Given the description of an element on the screen output the (x, y) to click on. 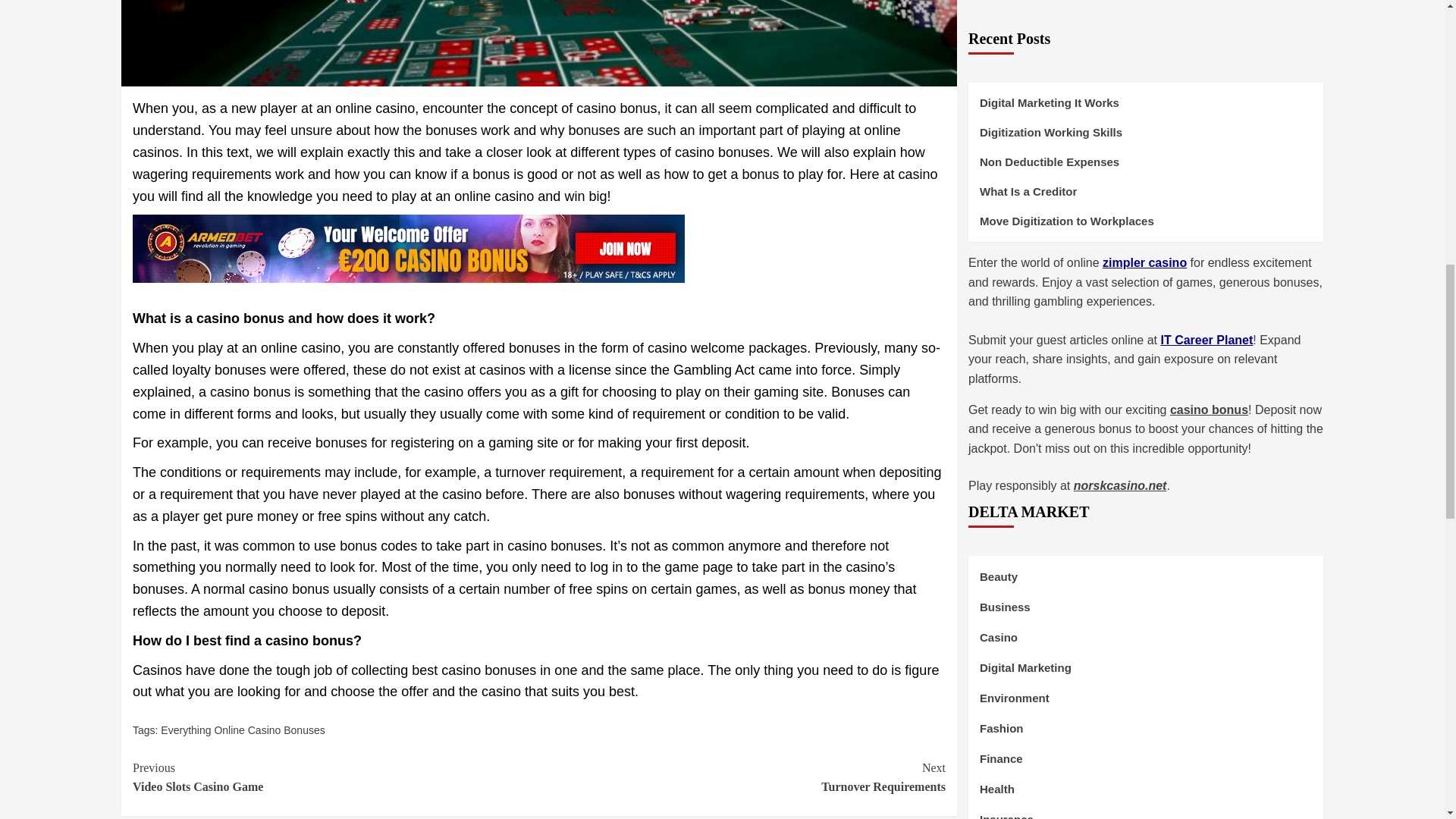
Everything Online Casino Bonuses (741, 777)
